Given the description of an element on the screen output the (x, y) to click on. 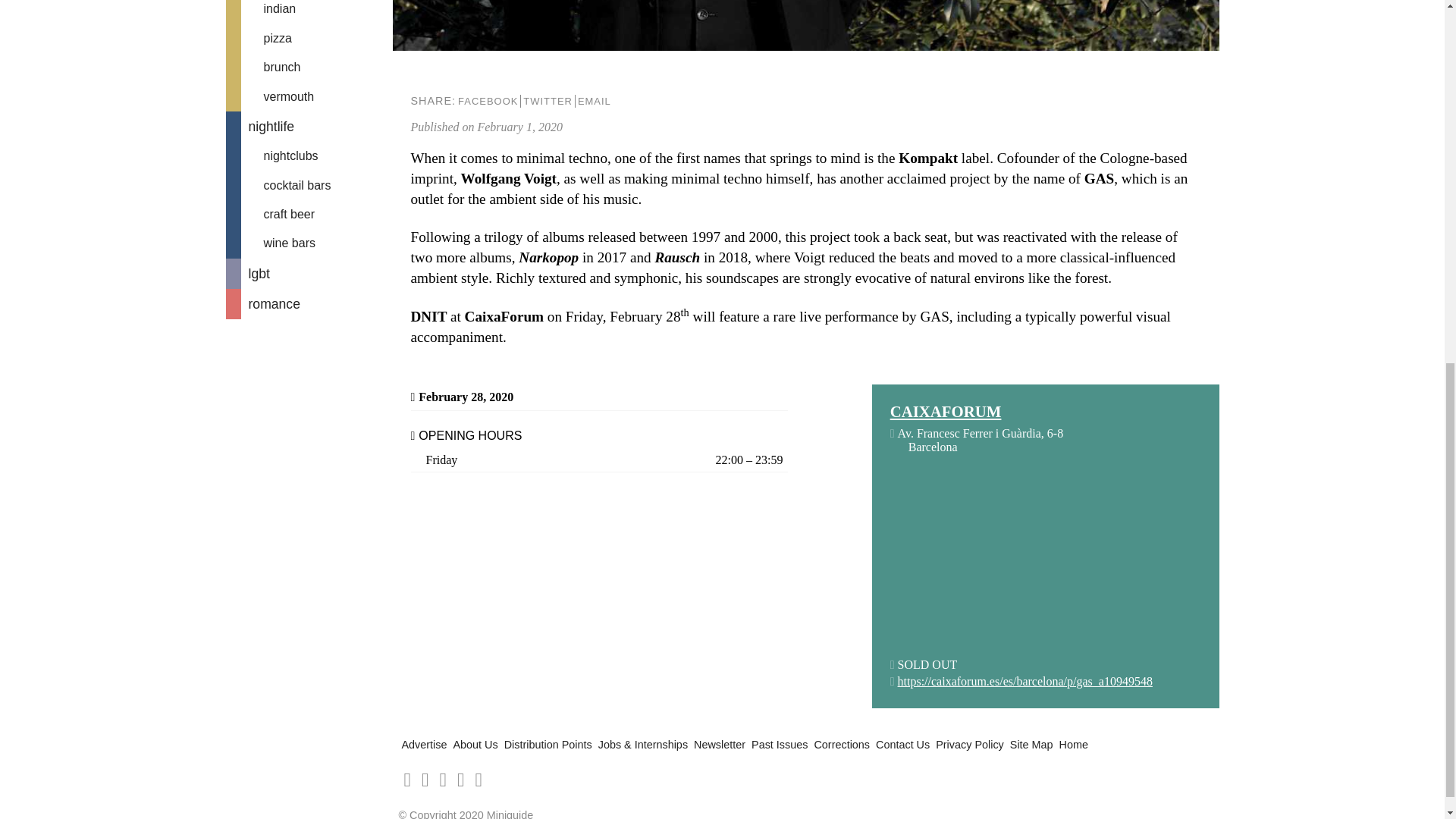
TWITTER (547, 101)
indian (309, 11)
wine bars (309, 243)
nightlife (309, 126)
pizza (309, 38)
Newsletter (719, 744)
romance (309, 304)
lgbt (309, 273)
vermouth (309, 96)
cocktail bars (309, 185)
